Given the description of an element on the screen output the (x, y) to click on. 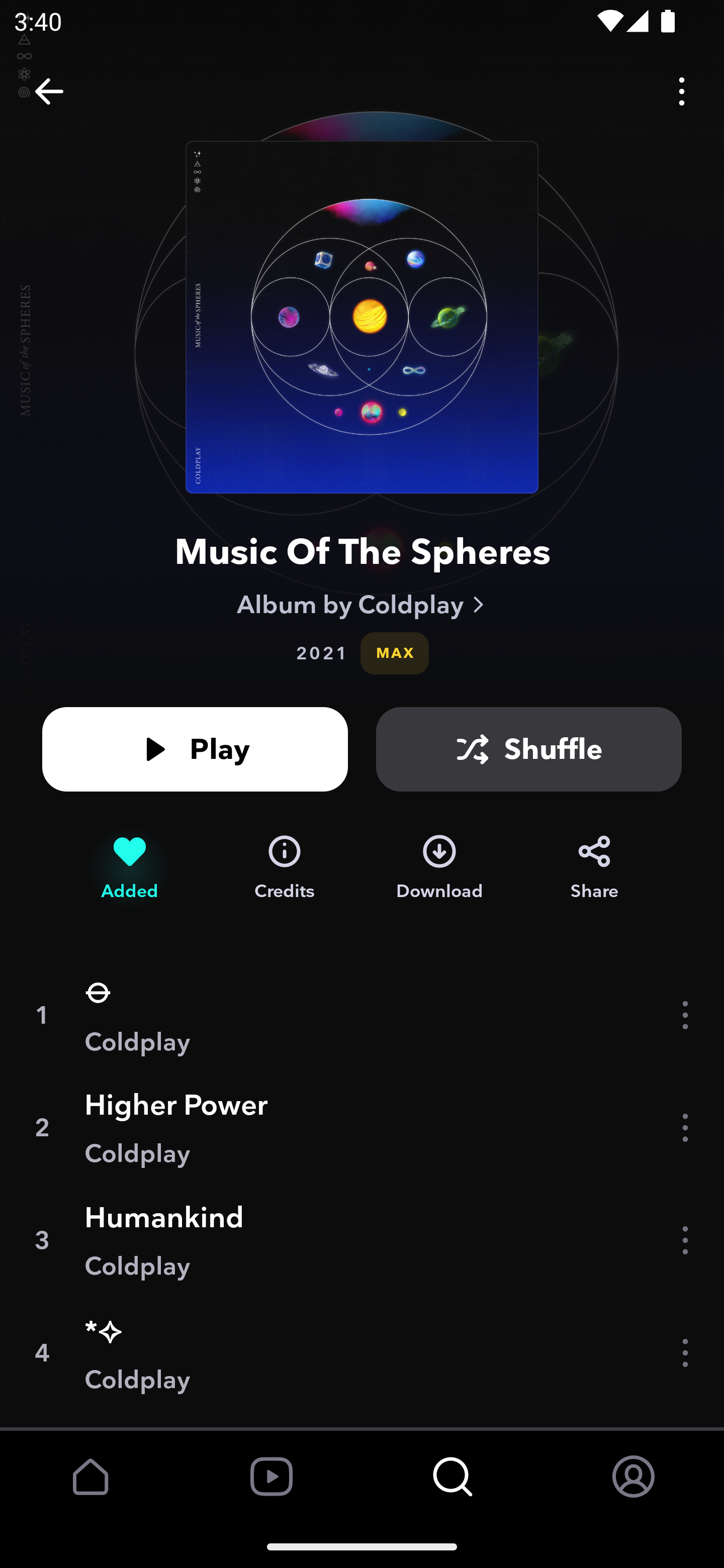
Options (681, 90)
Music Of The Spheres (361, 550)
Album by Coldplay (362, 604)
Play (194, 749)
Shuffle (528, 749)
Remove from My Collection Added (129, 867)
Credits (284, 867)
Download (439, 867)
Share (593, 867)
1 ⦵ Coldplay (362, 1014)
2 Higher Power Coldplay (362, 1126)
